Given the description of an element on the screen output the (x, y) to click on. 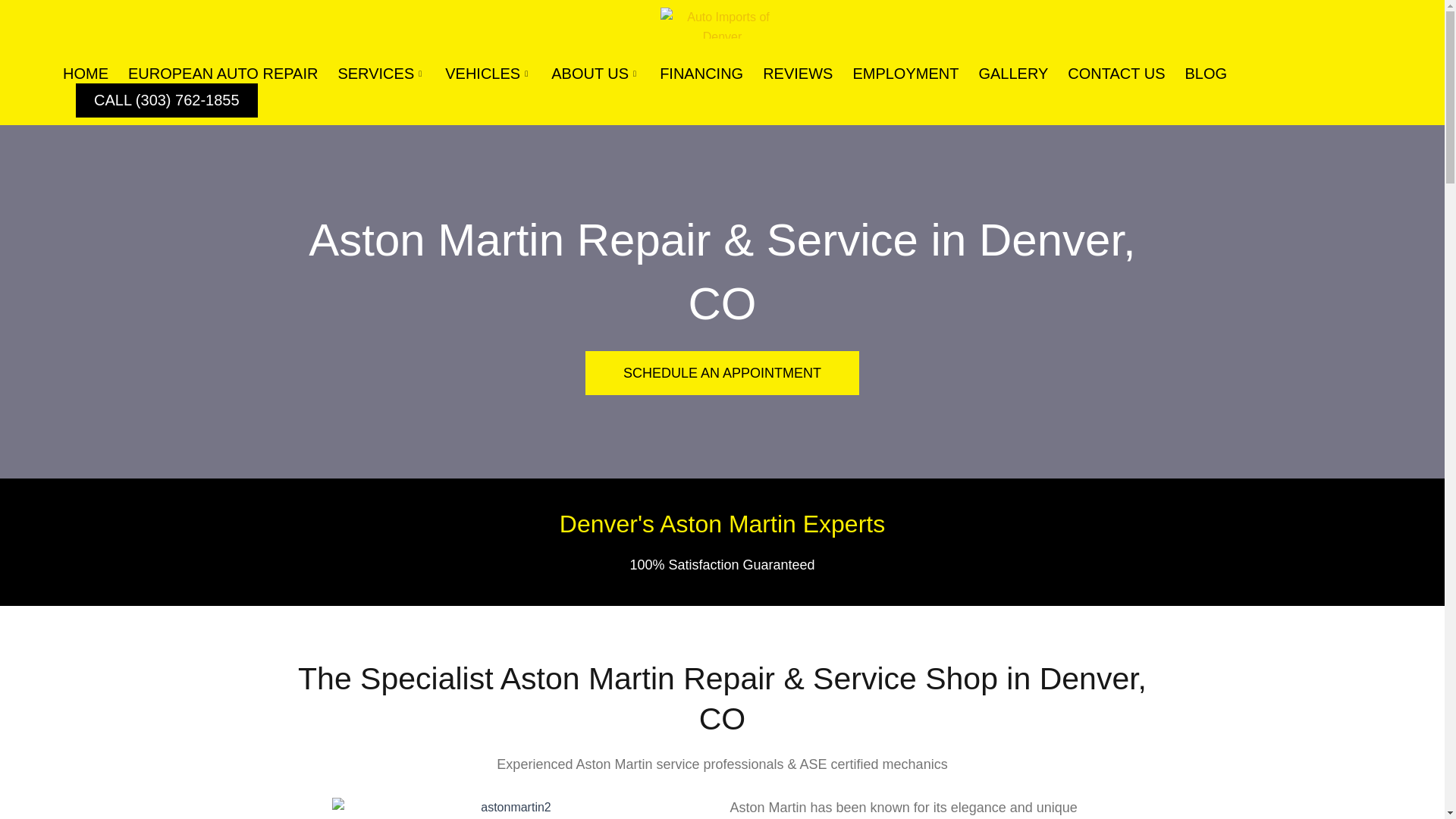
EUROPEAN AUTO REPAIR (222, 73)
FINANCING (700, 73)
HOME (84, 73)
SERVICES (381, 73)
REVIEWS (797, 73)
ABOUT US (595, 73)
GALLERY (1013, 73)
EMPLOYMENT (905, 73)
VEHICLES (488, 73)
